Given the description of an element on the screen output the (x, y) to click on. 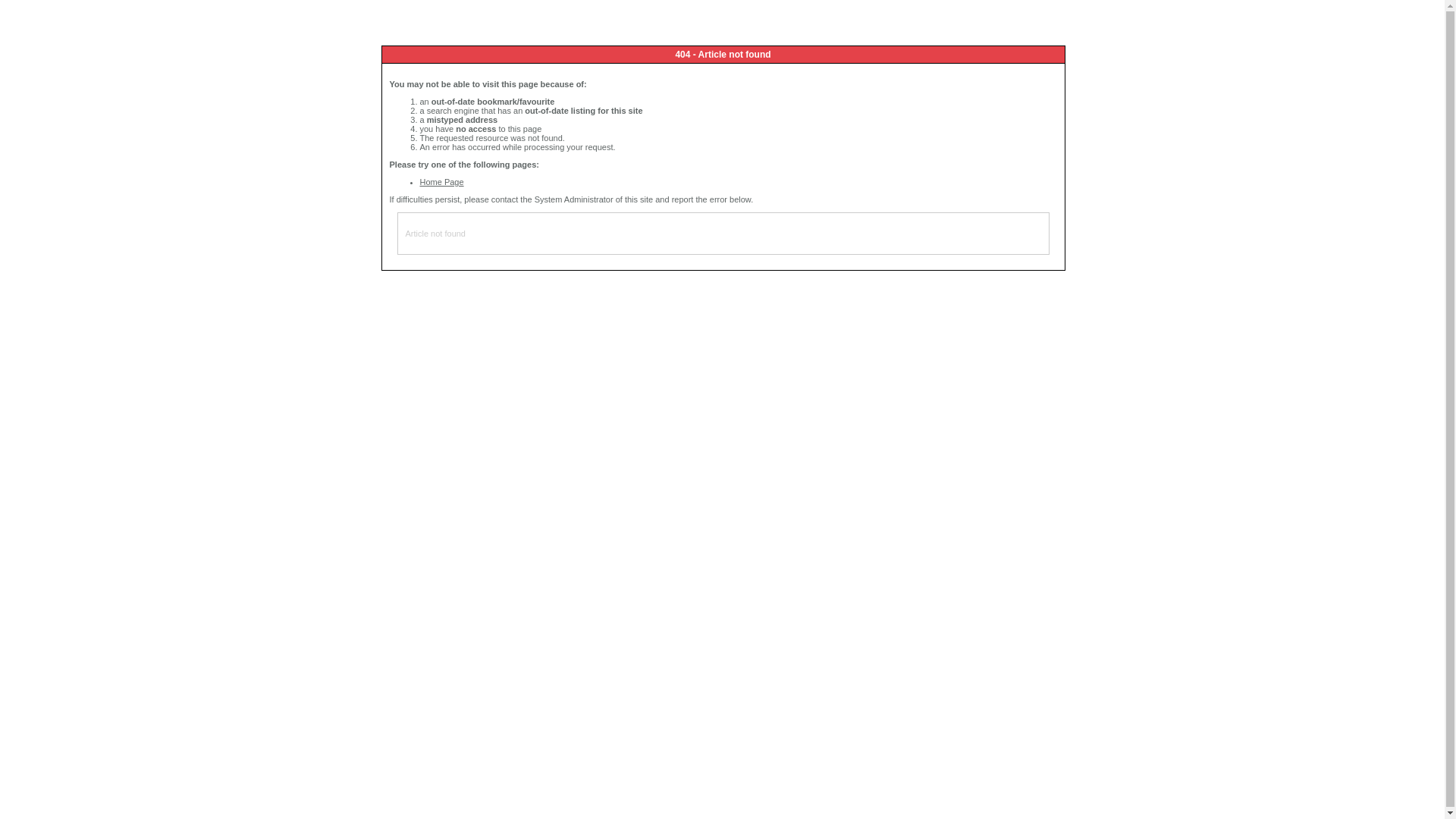
Home Page Element type: text (442, 181)
